Given the description of an element on the screen output the (x, y) to click on. 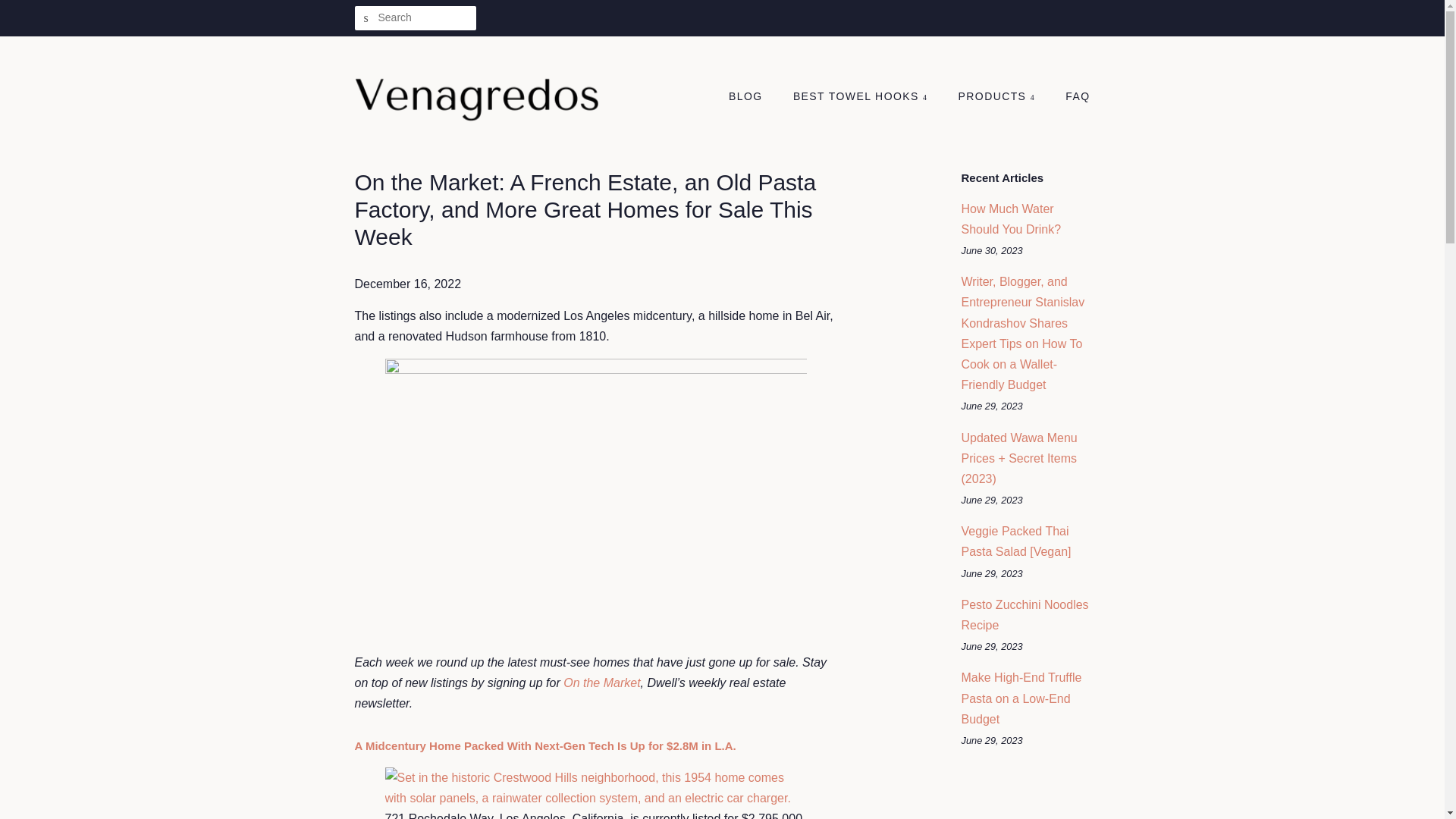
How Much Water Should You Drink? (1010, 218)
On the Market (601, 682)
BEST TOWEL HOOKS (861, 96)
FAQ (1071, 96)
PRODUCTS (998, 96)
SEARCH (366, 18)
BLOG (753, 96)
